Given the description of an element on the screen output the (x, y) to click on. 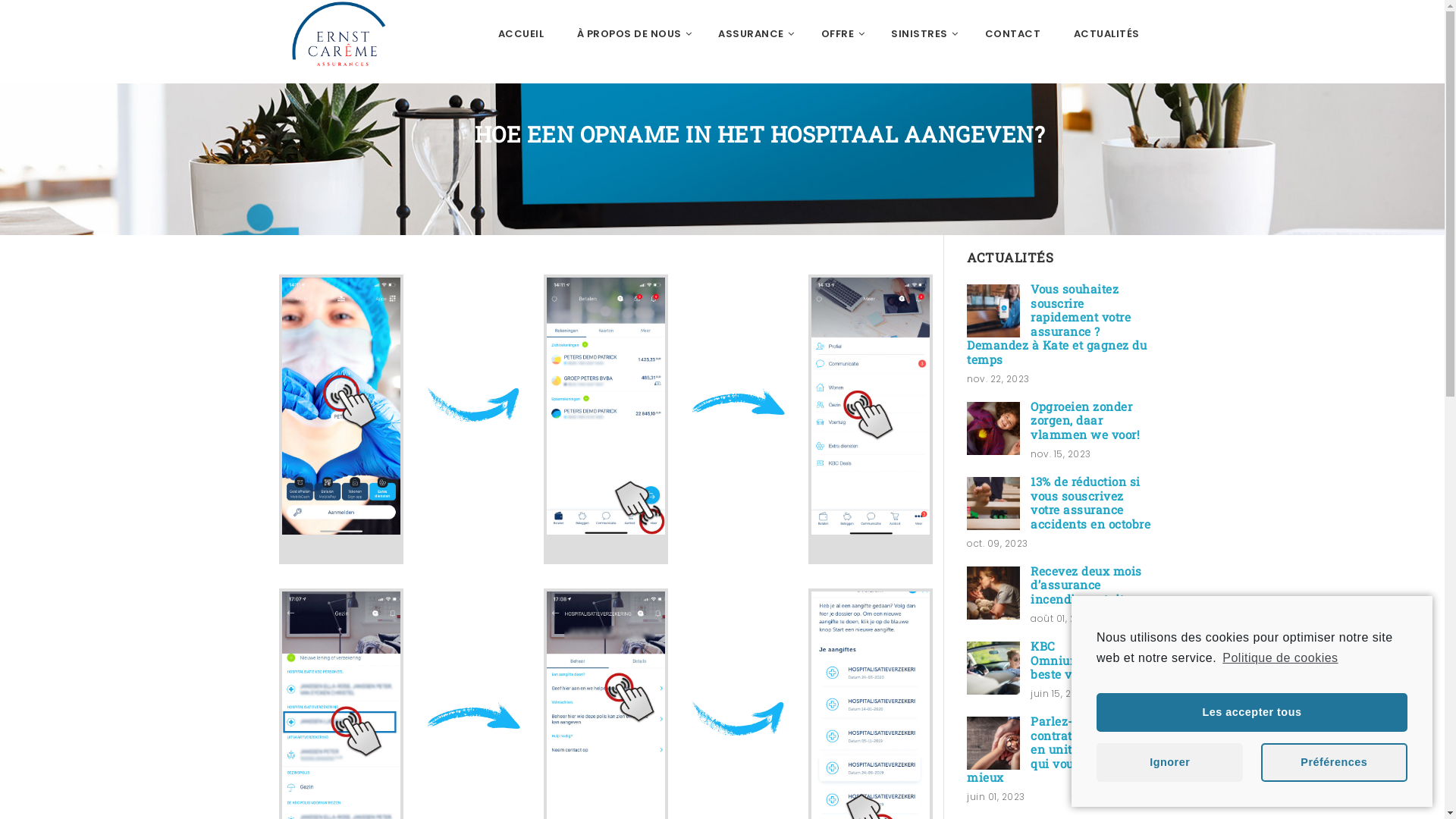
ACCUEIL Element type: text (521, 34)
SINISTRES Element type: text (920, 34)
Ignorer Element type: text (1169, 762)
KBC Omniumverzekering beste van de test Element type: text (1090, 659)
OFFRE Element type: text (839, 34)
ASSURANCE Element type: text (752, 34)
Les accepter tous Element type: text (1251, 712)
Opgroeien zonder zorgen, daar vlammen we voor! Element type: text (1084, 420)
Opgroeien zonder zorgen, daar vlammen we voor! Element type: hover (992, 428)
CONTACT Element type: text (1012, 34)
Politique de cookies Element type: text (1279, 657)
KBC Omniumverzekering beste van de test Element type: hover (992, 667)
